Given the description of an element on the screen output the (x, y) to click on. 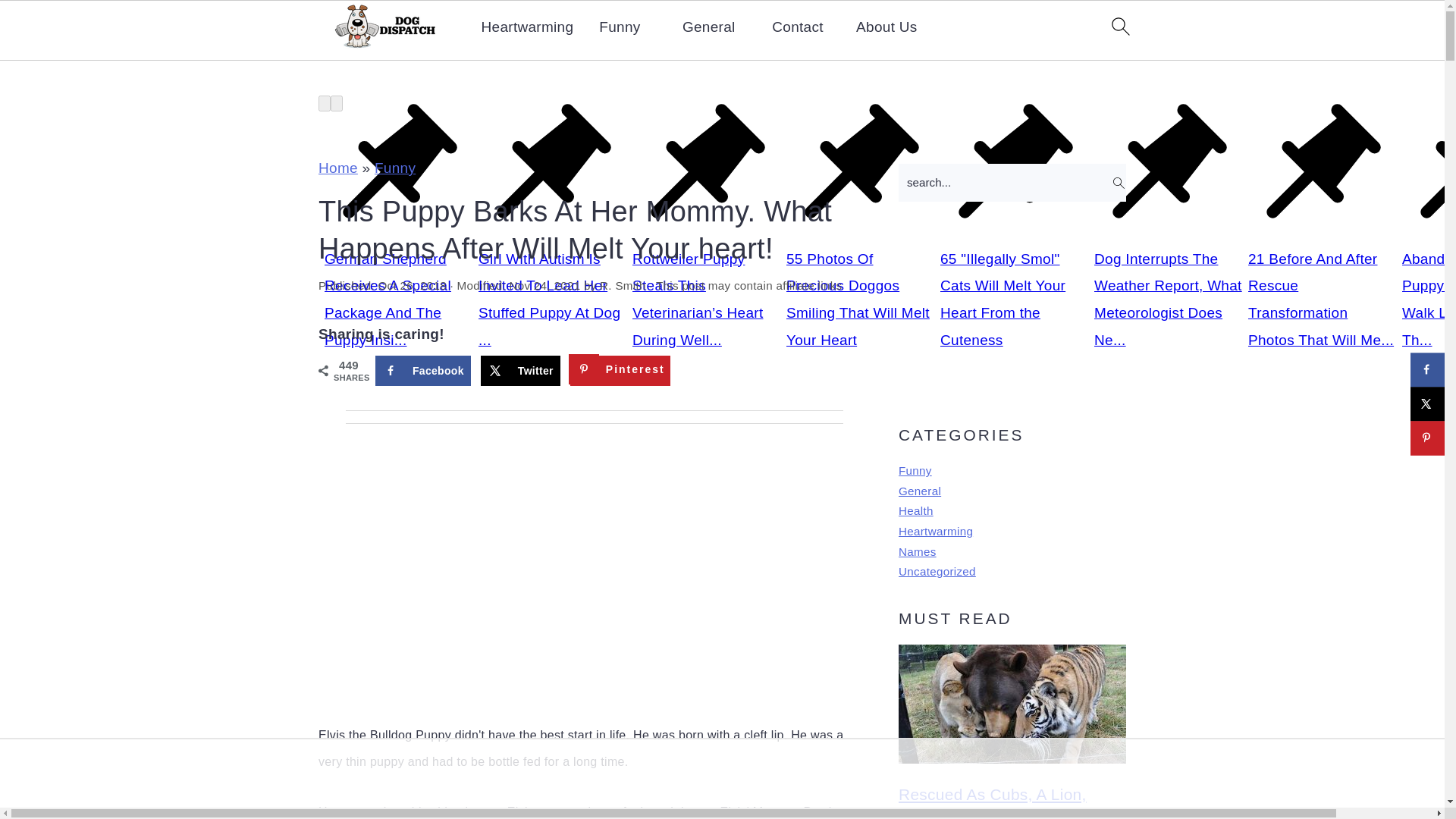
Contact (797, 27)
Share on Facebook (422, 370)
Share on X (520, 370)
Pinterest (619, 370)
Heartwarming (526, 27)
search icon (1119, 26)
Funny (619, 27)
Home (338, 167)
Funny (914, 470)
Twitter (520, 370)
About Us (886, 27)
Funny (394, 167)
